Given the description of an element on the screen output the (x, y) to click on. 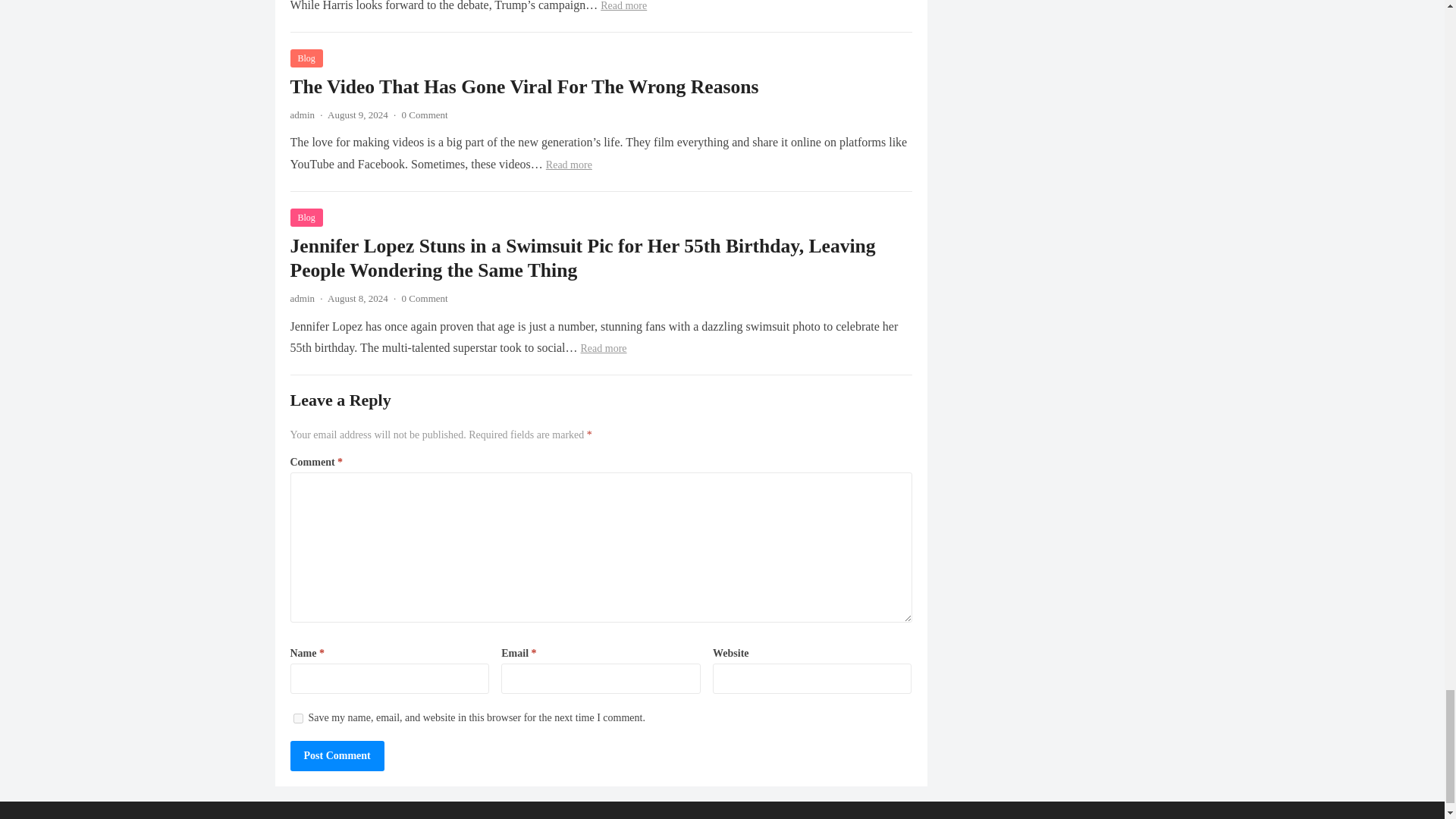
0 Comment (424, 114)
yes (297, 718)
Posts by admin (301, 114)
Posts by admin (301, 297)
Post Comment (336, 756)
Read more (622, 5)
The Video That Has Gone Viral For The Wrong Reasons (523, 86)
Blog (305, 58)
admin (301, 114)
